Given the description of an element on the screen output the (x, y) to click on. 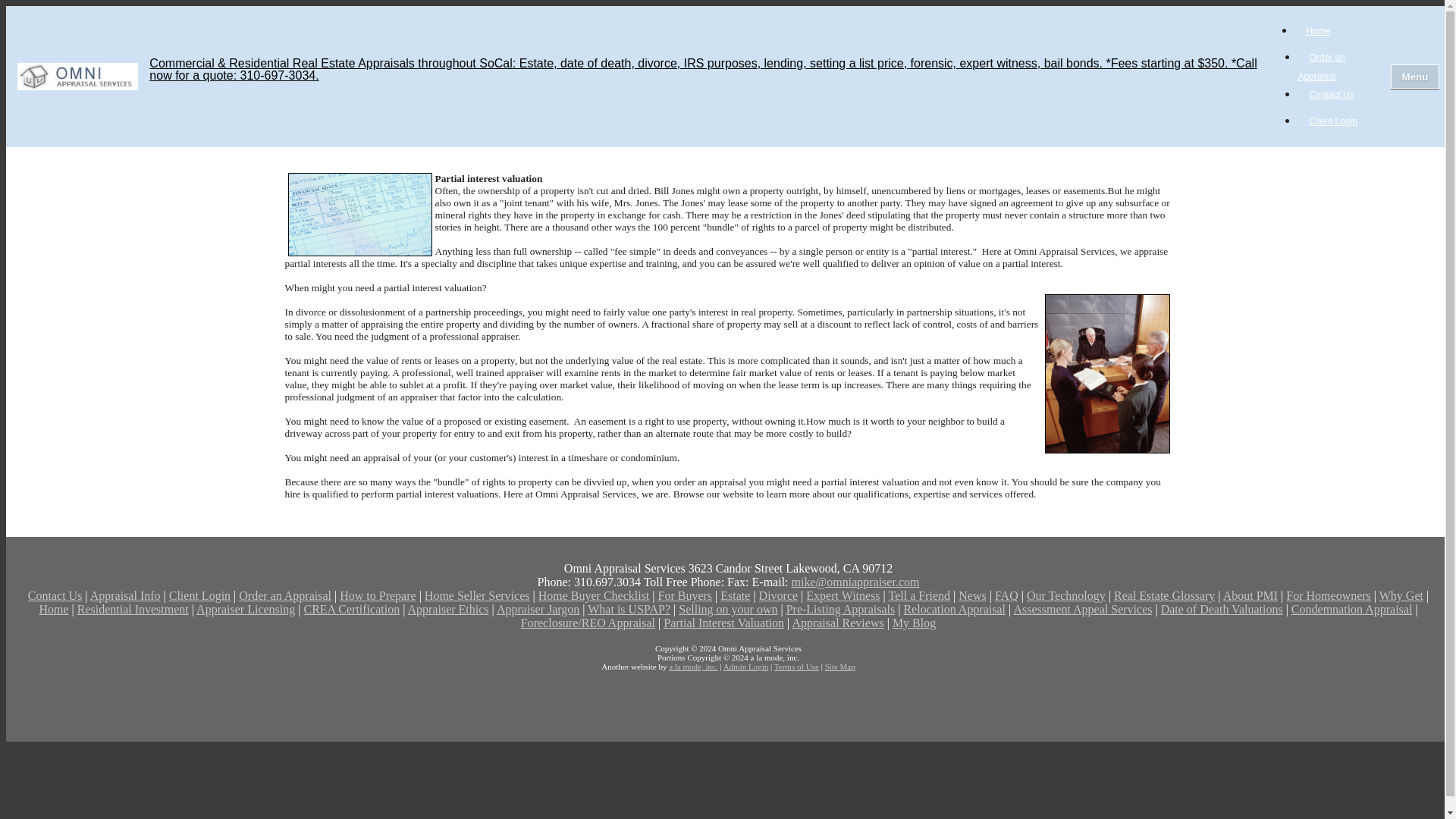
Home (1317, 30)
Contact Us (1331, 94)
Menu (1414, 76)
Order an Appraisal (1321, 67)
Client Login (1332, 121)
